Given the description of an element on the screen output the (x, y) to click on. 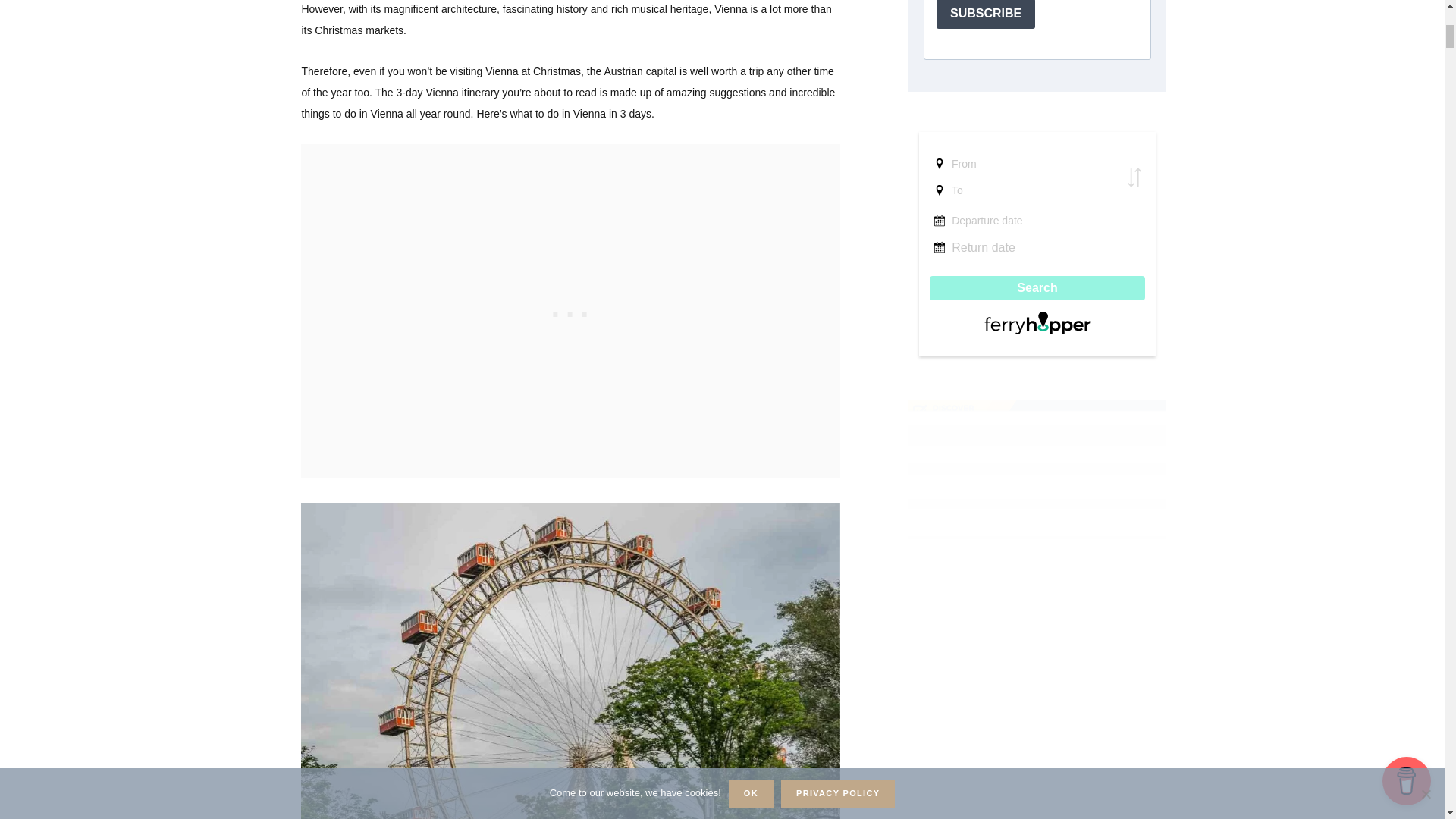
Find Your Rental Car (1037, 485)
